Given the description of an element on the screen output the (x, y) to click on. 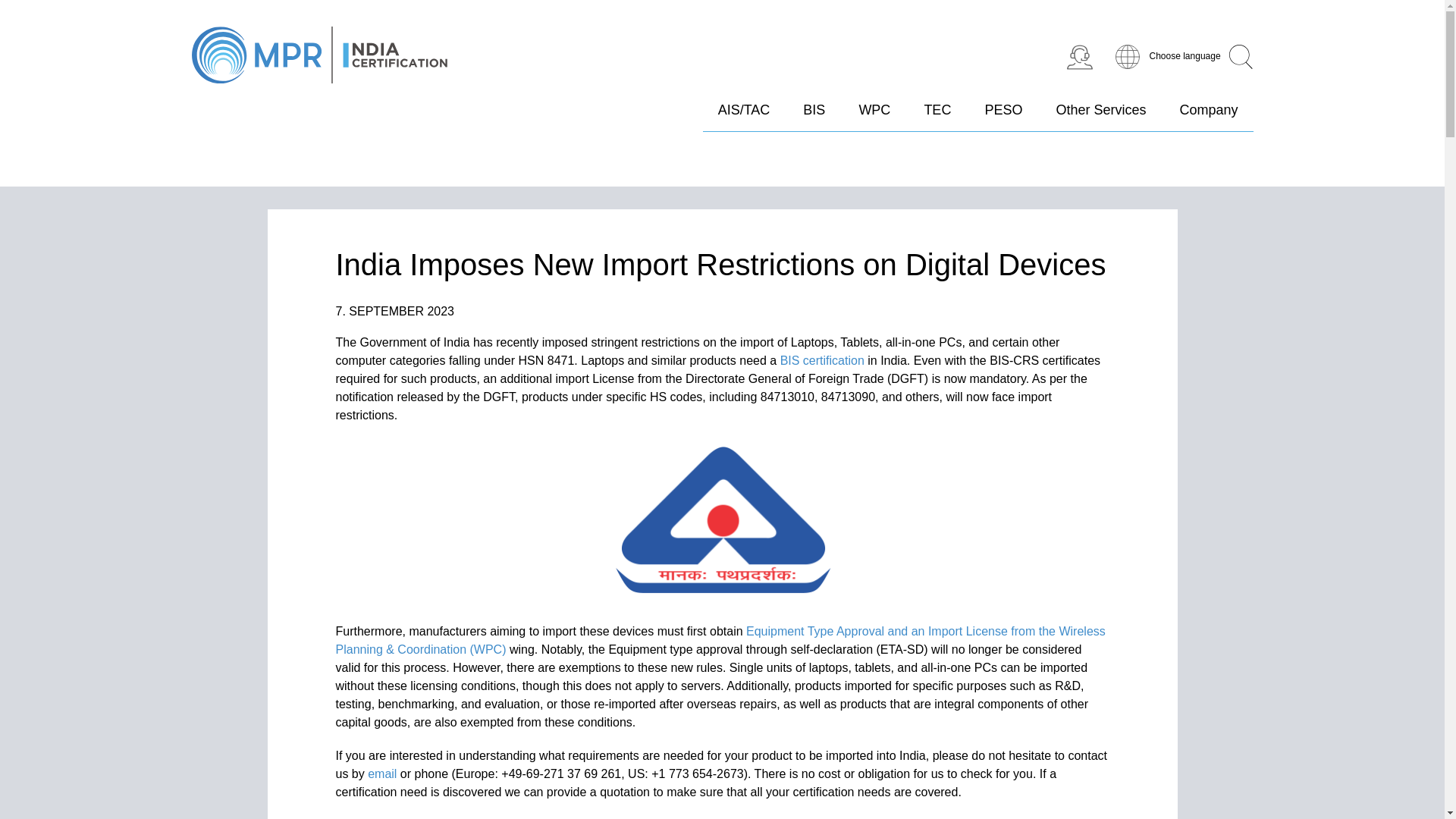
Other Services (1100, 117)
BIS certification (822, 359)
email (382, 773)
PESO (1003, 117)
Company (1208, 117)
WPC (874, 117)
TEC (936, 117)
